Given the description of an element on the screen output the (x, y) to click on. 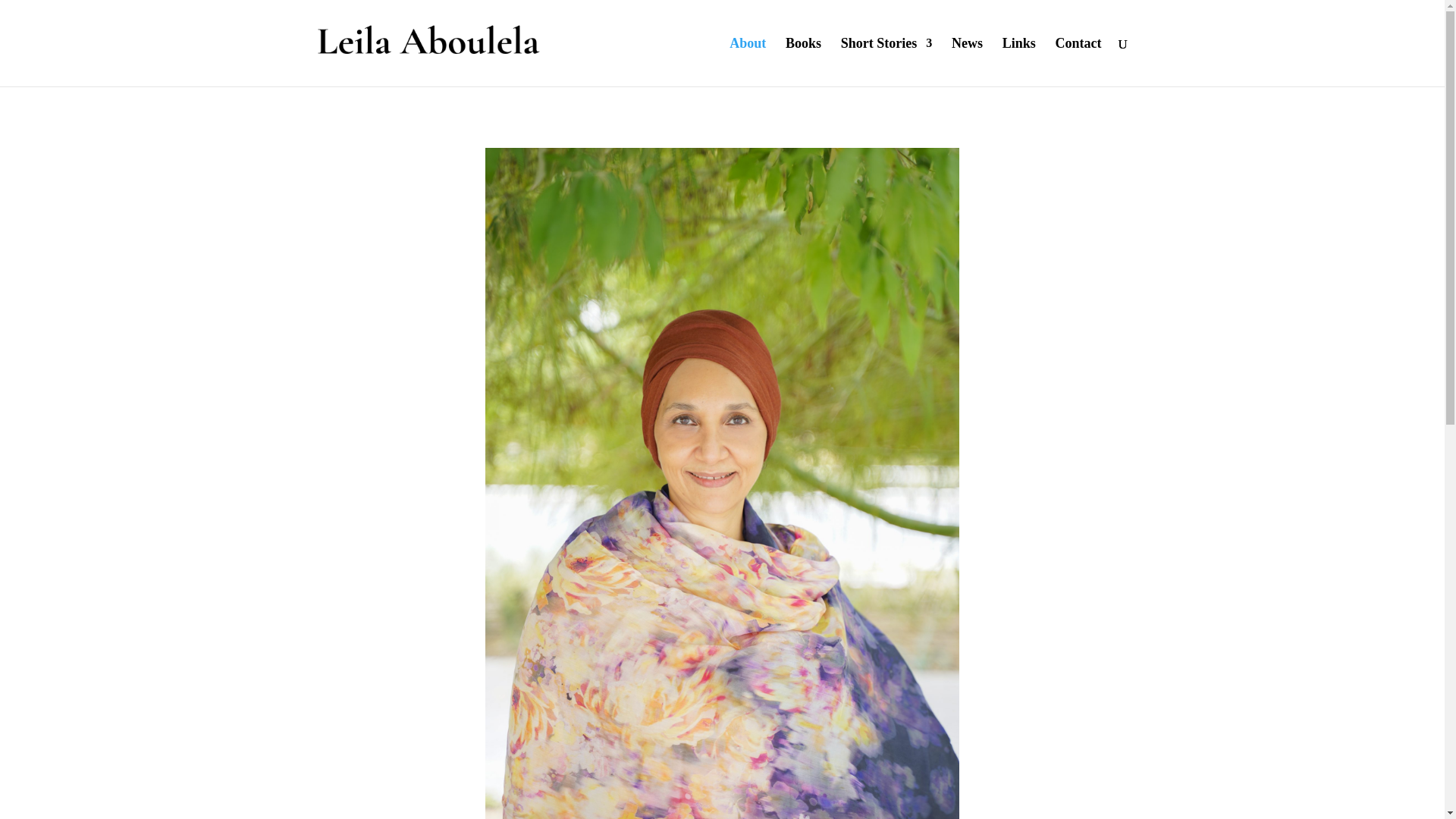
Contact (1078, 61)
Short Stories (887, 61)
